Given the description of an element on the screen output the (x, y) to click on. 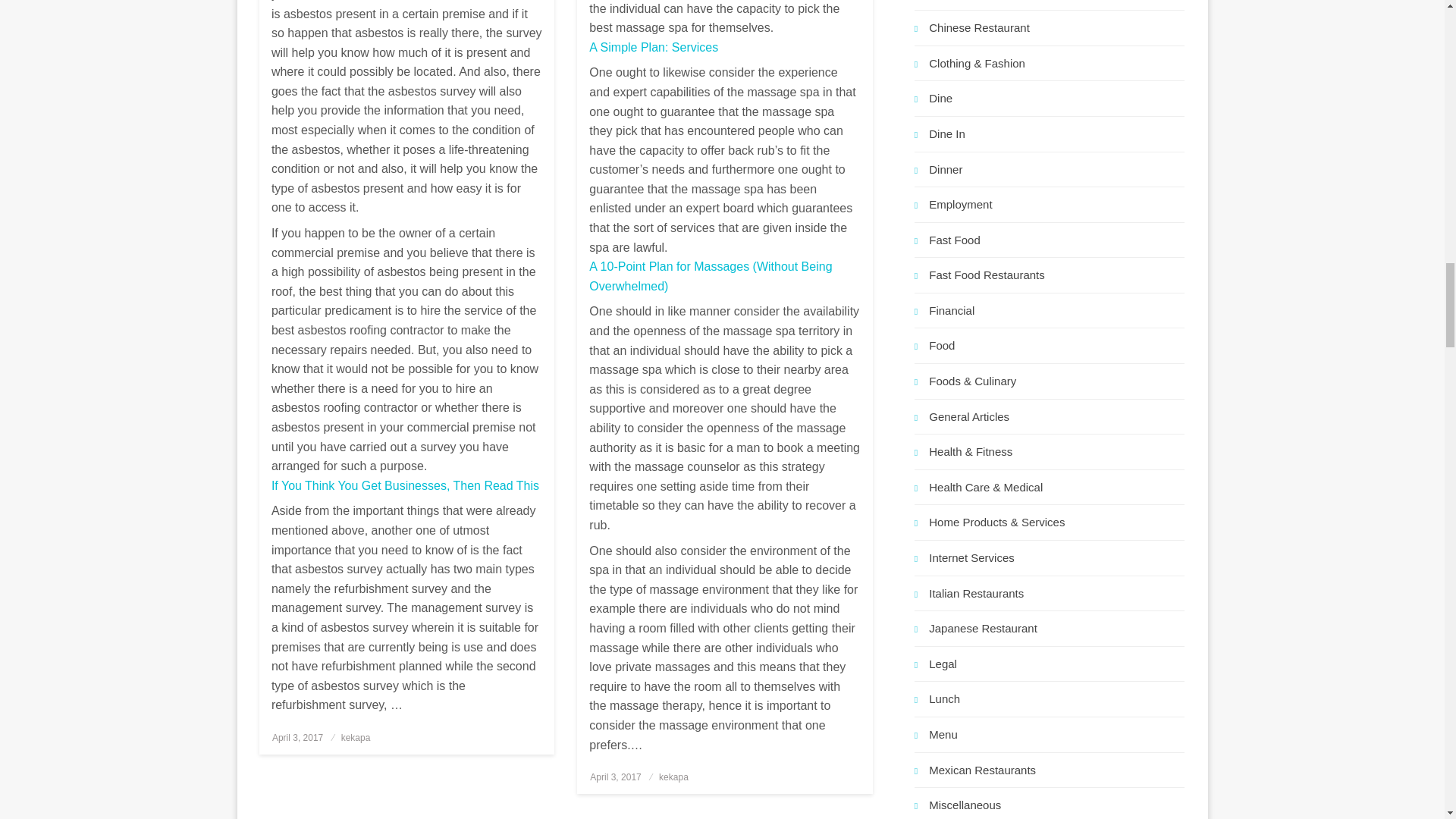
kekapa (673, 777)
kekapa (355, 737)
